Given the description of an element on the screen output the (x, y) to click on. 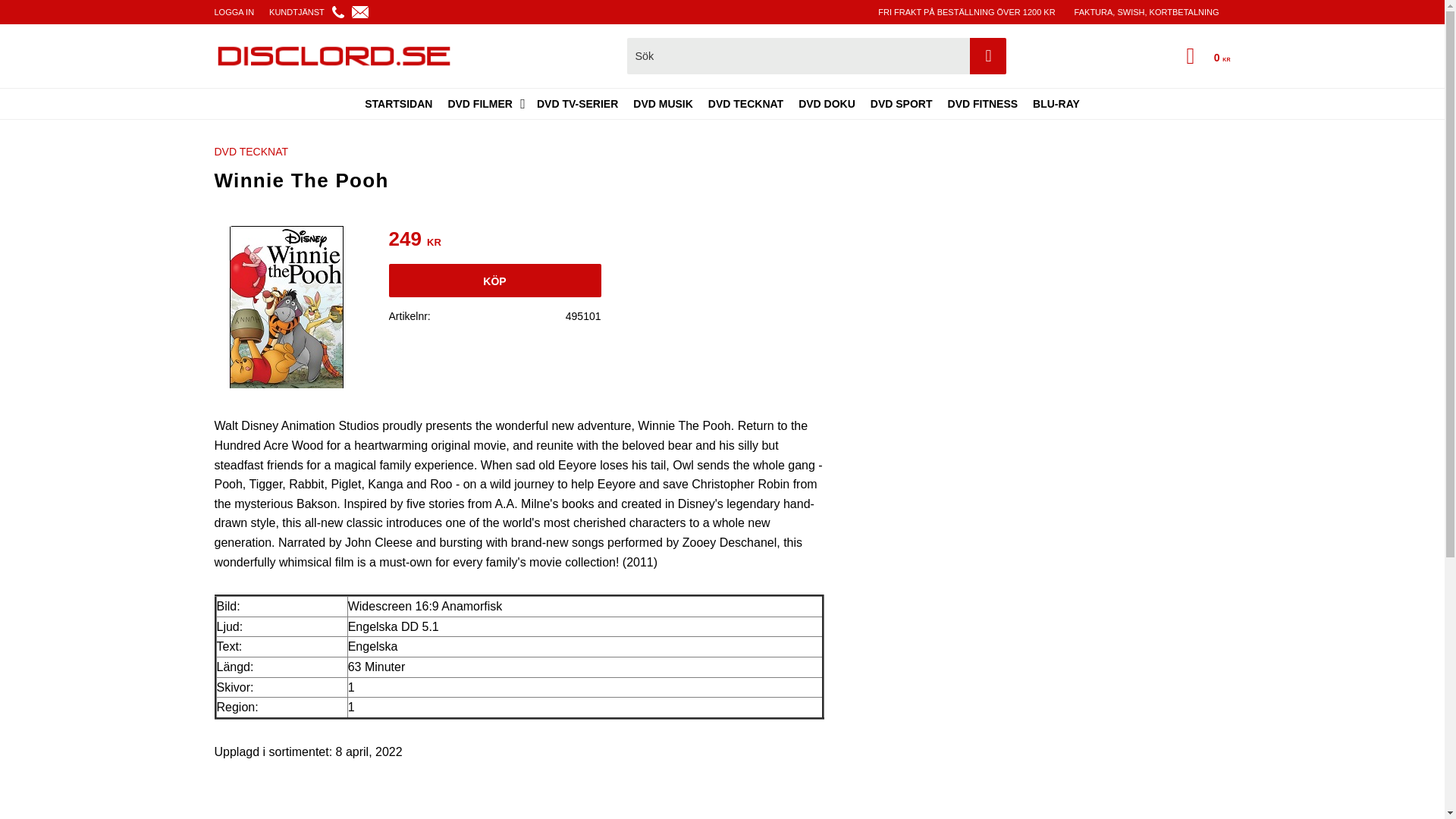
DVD TECKNAT (745, 103)
STARTSIDAN (397, 103)
BLU-RAY (1056, 103)
DVD DOKU (826, 103)
DVD SPORT (901, 103)
DVD FILMER (484, 103)
DVD FILMER (484, 103)
DVD TECKNAT (253, 151)
DVD MUSIK (663, 103)
LOGGA IN (238, 12)
